Given the description of an element on the screen output the (x, y) to click on. 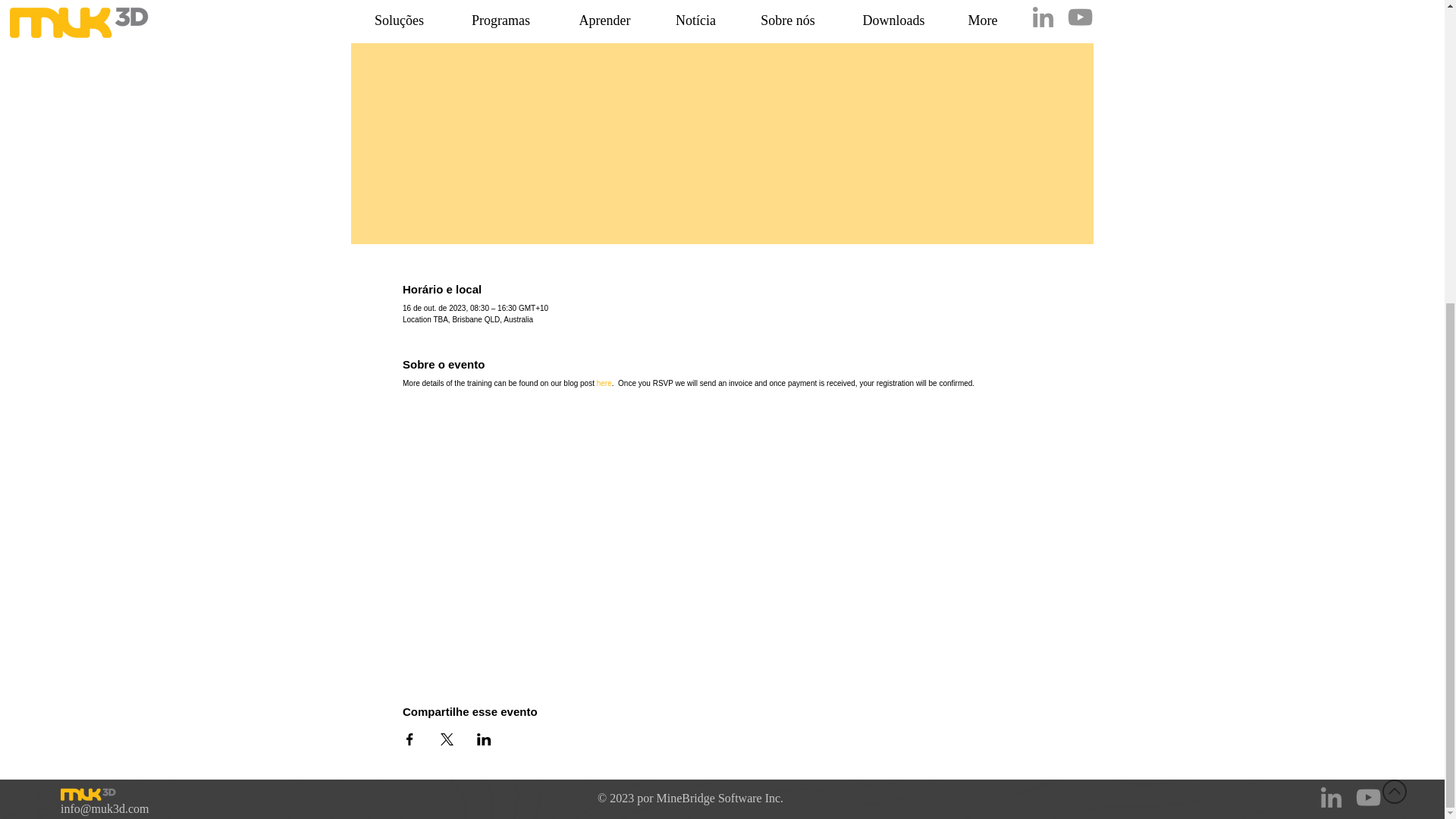
here (603, 383)
